Given the description of an element on the screen output the (x, y) to click on. 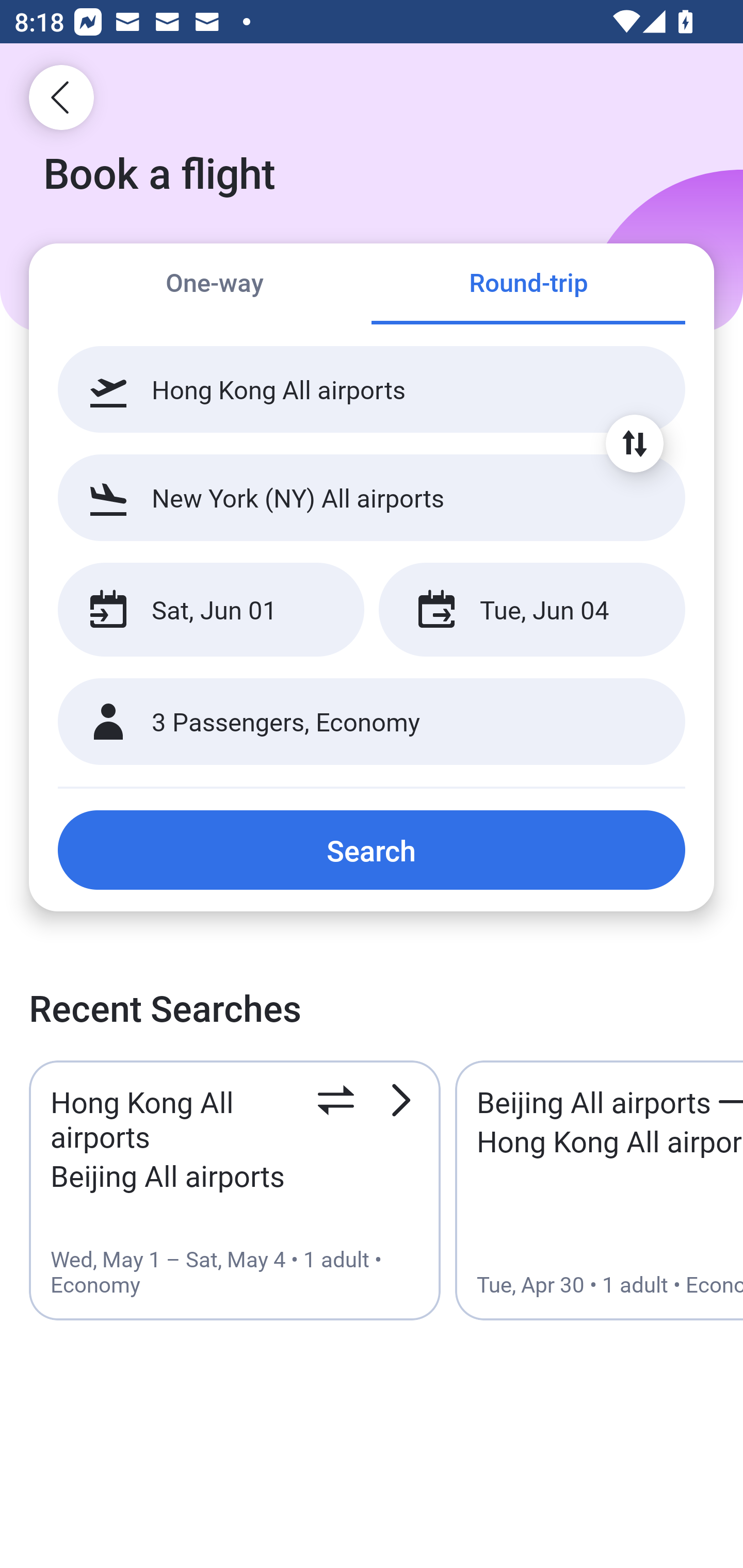
One-way (214, 284)
Hong Kong All airports (371, 389)
New York (NY) All airports (371, 497)
Sat, Jun 01 (210, 609)
Tue, Jun 04 (531, 609)
3 Passengers, Economy (371, 721)
Search (371, 849)
